Given the description of an element on the screen output the (x, y) to click on. 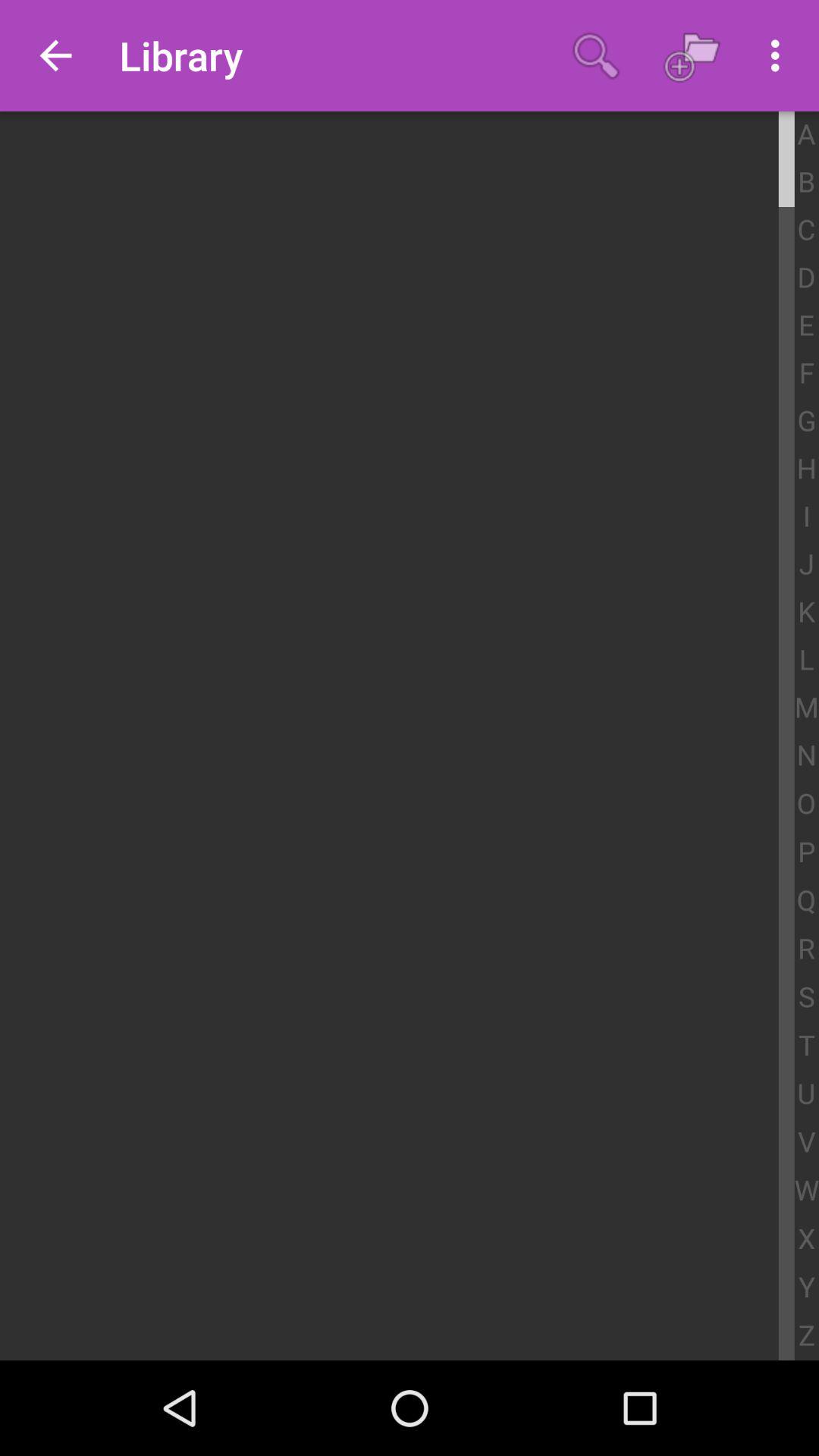
choose the l (806, 660)
